Given the description of an element on the screen output the (x, y) to click on. 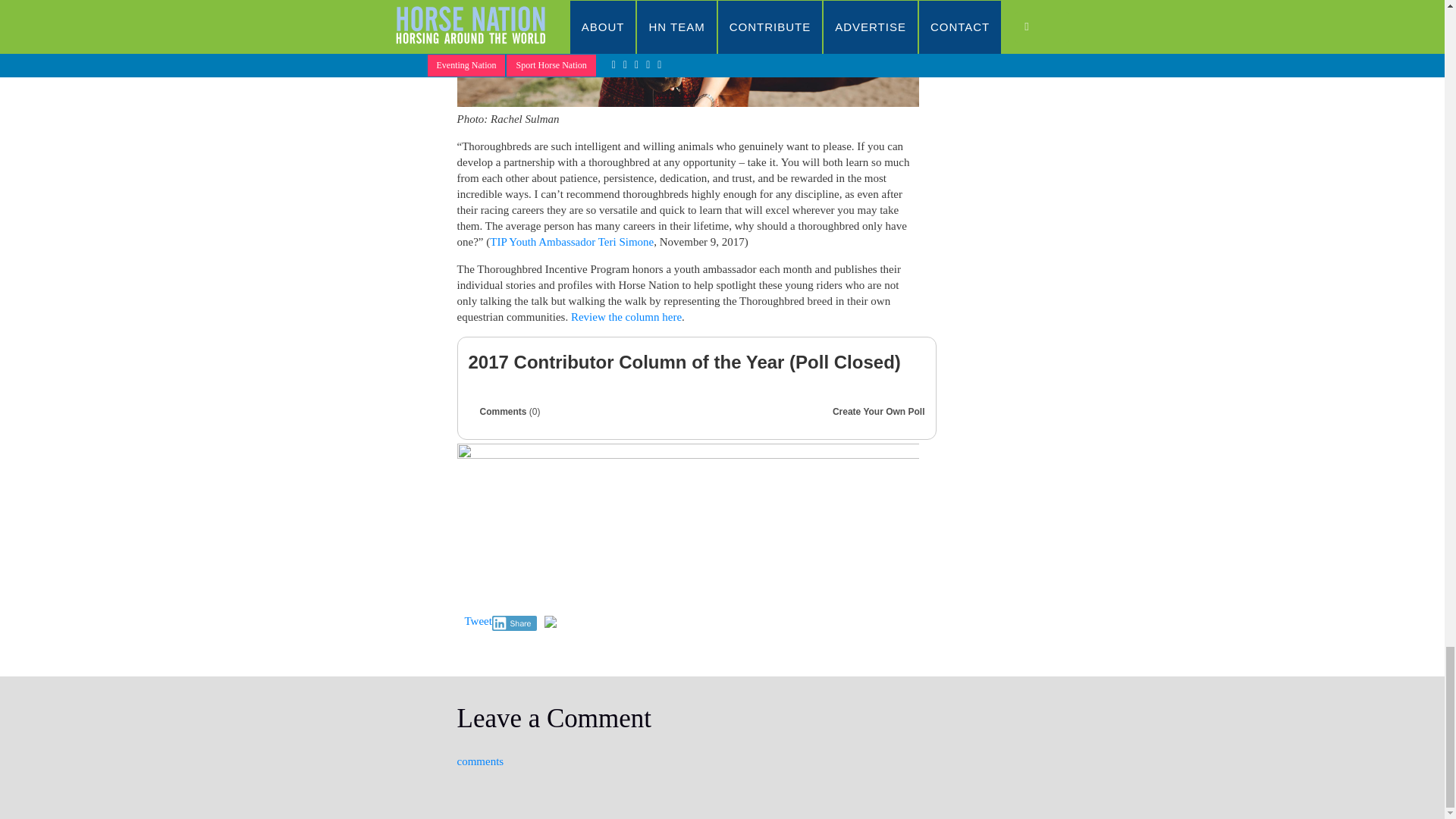
Review the column here (625, 316)
TIP Youth Ambassador Teri Simone (571, 241)
